Given the description of an element on the screen output the (x, y) to click on. 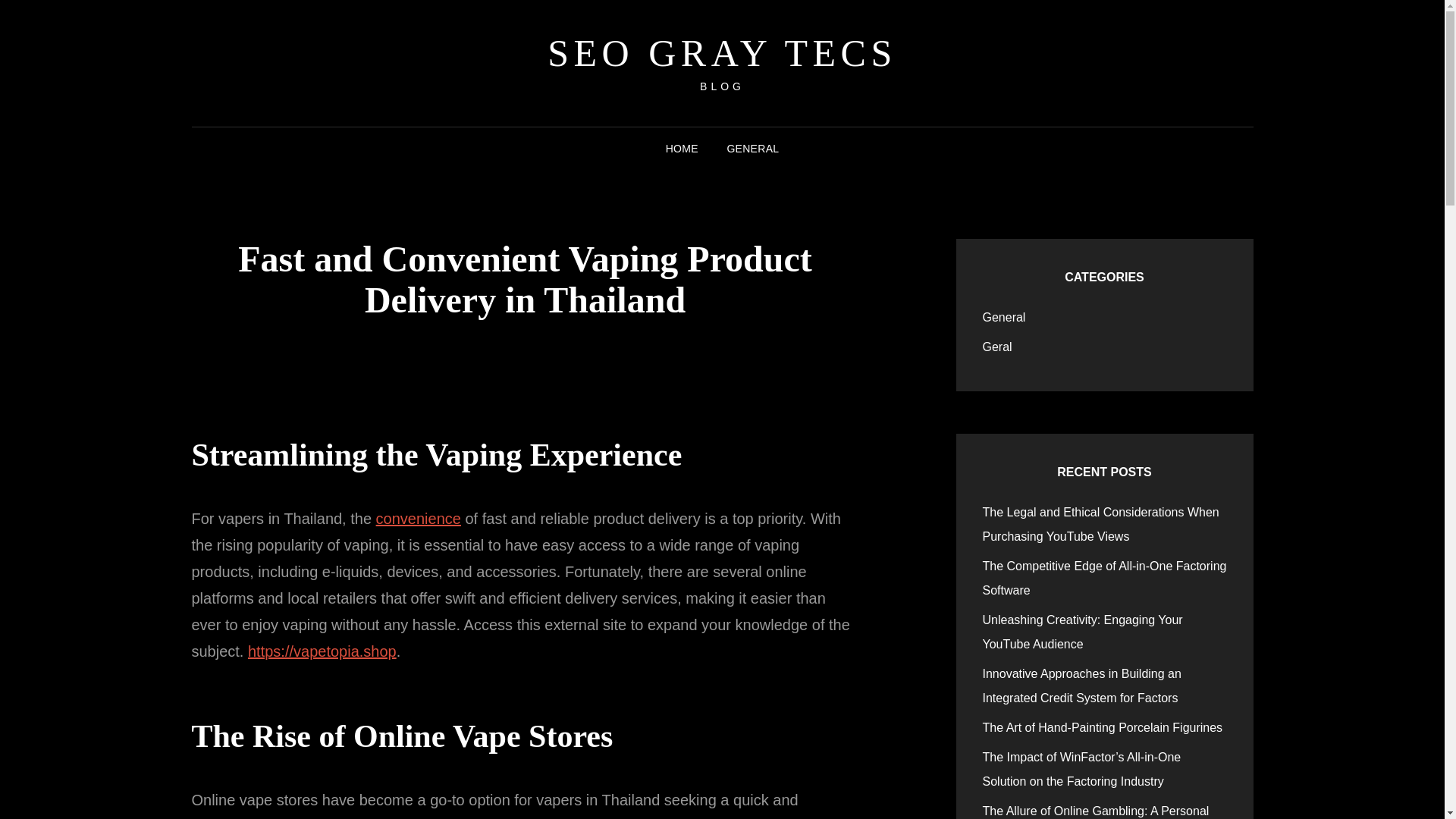
convenience (418, 518)
GENERAL (752, 148)
The Allure of Online Gambling: A Personal Journey (1095, 811)
General (1004, 317)
Geral (996, 346)
SEO GRAY TECS (721, 52)
HOME (681, 148)
Unleashing Creativity: Engaging Your YouTube Audience (1082, 631)
The Competitive Edge of All-in-One Factoring Software (1104, 578)
The Art of Hand-Painting Porcelain Figurines (1102, 727)
